Given the description of an element on the screen output the (x, y) to click on. 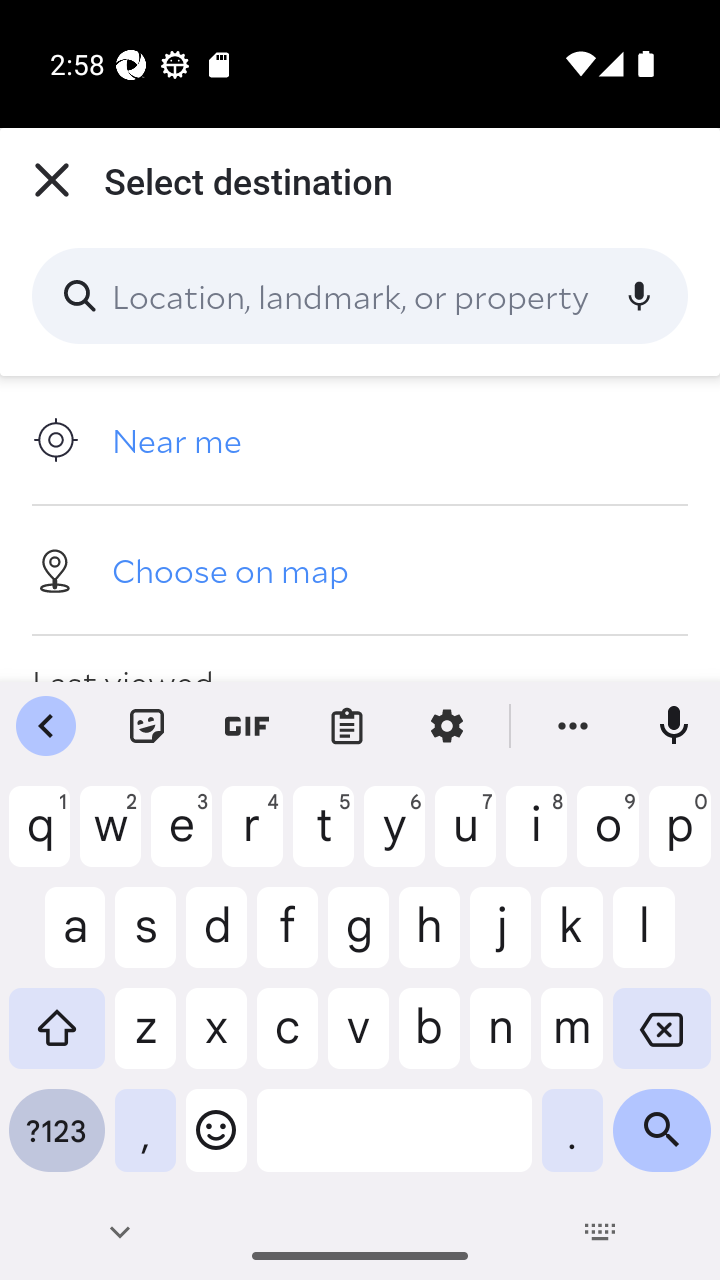
Location, landmark, or property (359, 296)
Near me (360, 440)
Choose on map (360, 569)
